Given the description of an element on the screen output the (x, y) to click on. 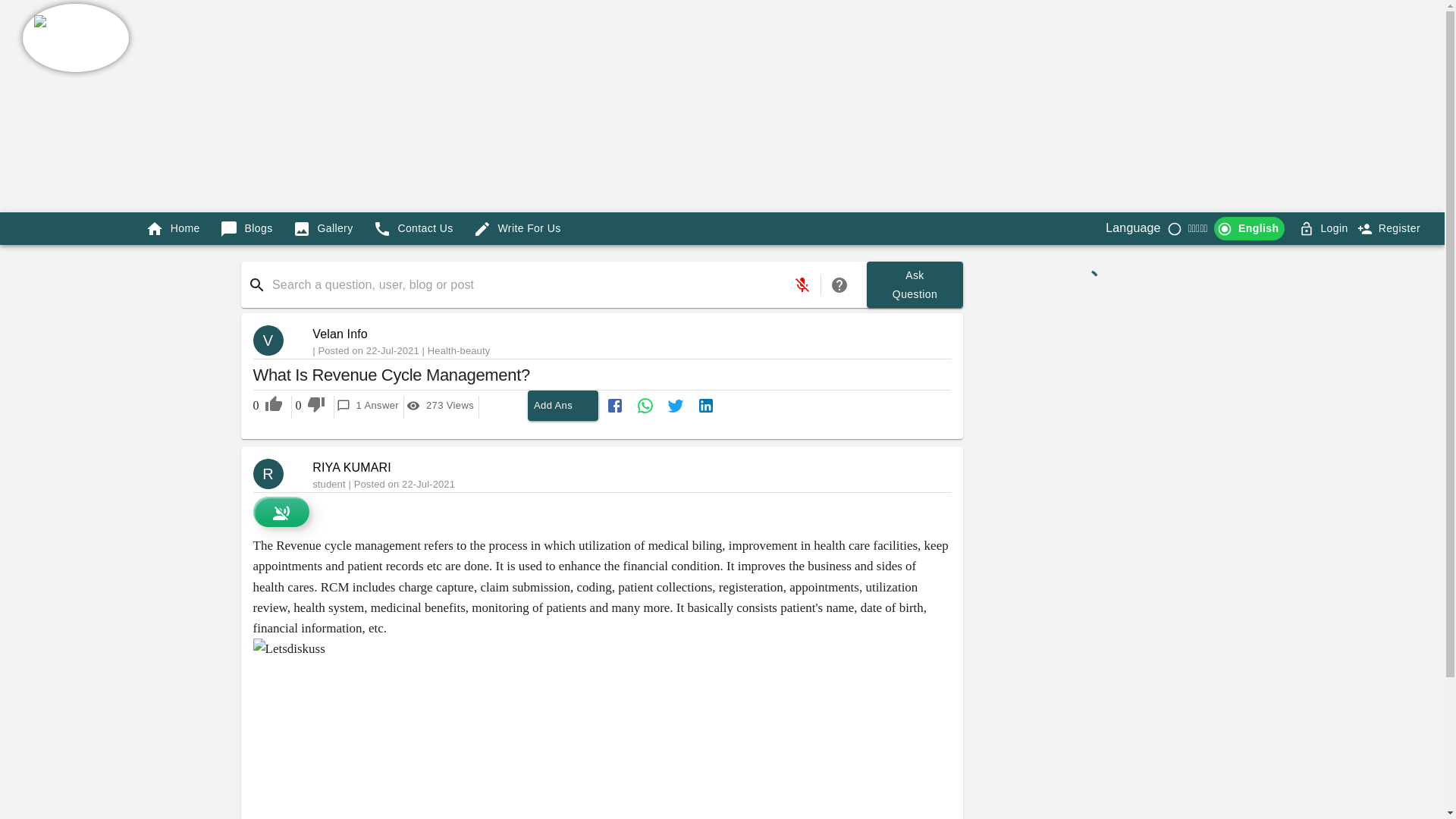
 Write For Us (517, 228)
Register (1399, 228)
1 Answer (367, 405)
 Blogs (246, 228)
R (274, 473)
 Gallery (322, 228)
Login (914, 284)
Register (1334, 228)
 Home (1390, 228)
